Given the description of an element on the screen output the (x, y) to click on. 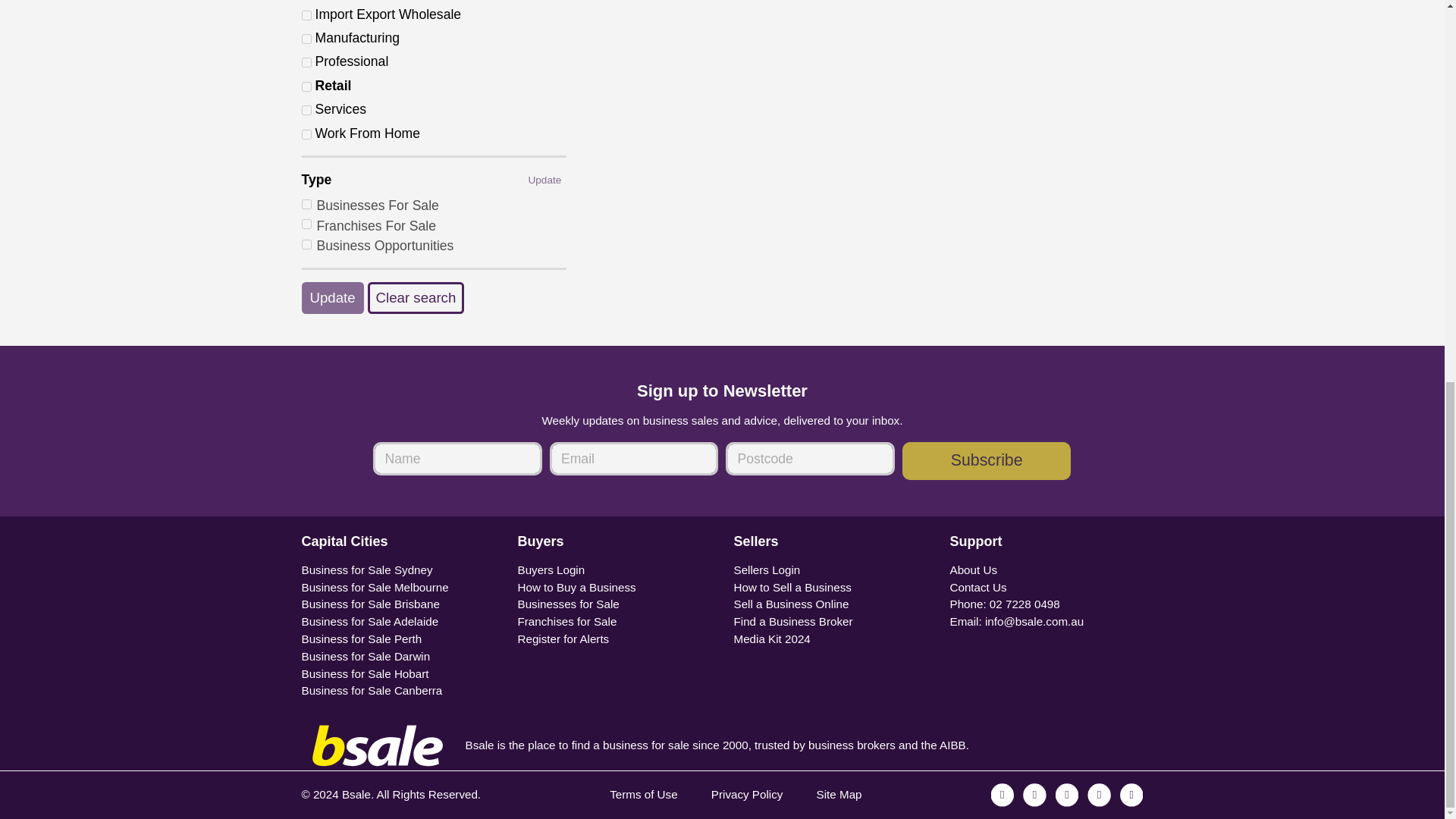
Follow us on LinkedIn (1098, 793)
8 (306, 15)
Follow us on Instagram (1034, 793)
9 (306, 39)
Follow us on Facebook (1002, 793)
Follow us on Twitter (1066, 793)
11 (306, 62)
Follow us on Youtube (1130, 793)
33 (306, 134)
14 (306, 110)
12 (306, 86)
